Given the description of an element on the screen output the (x, y) to click on. 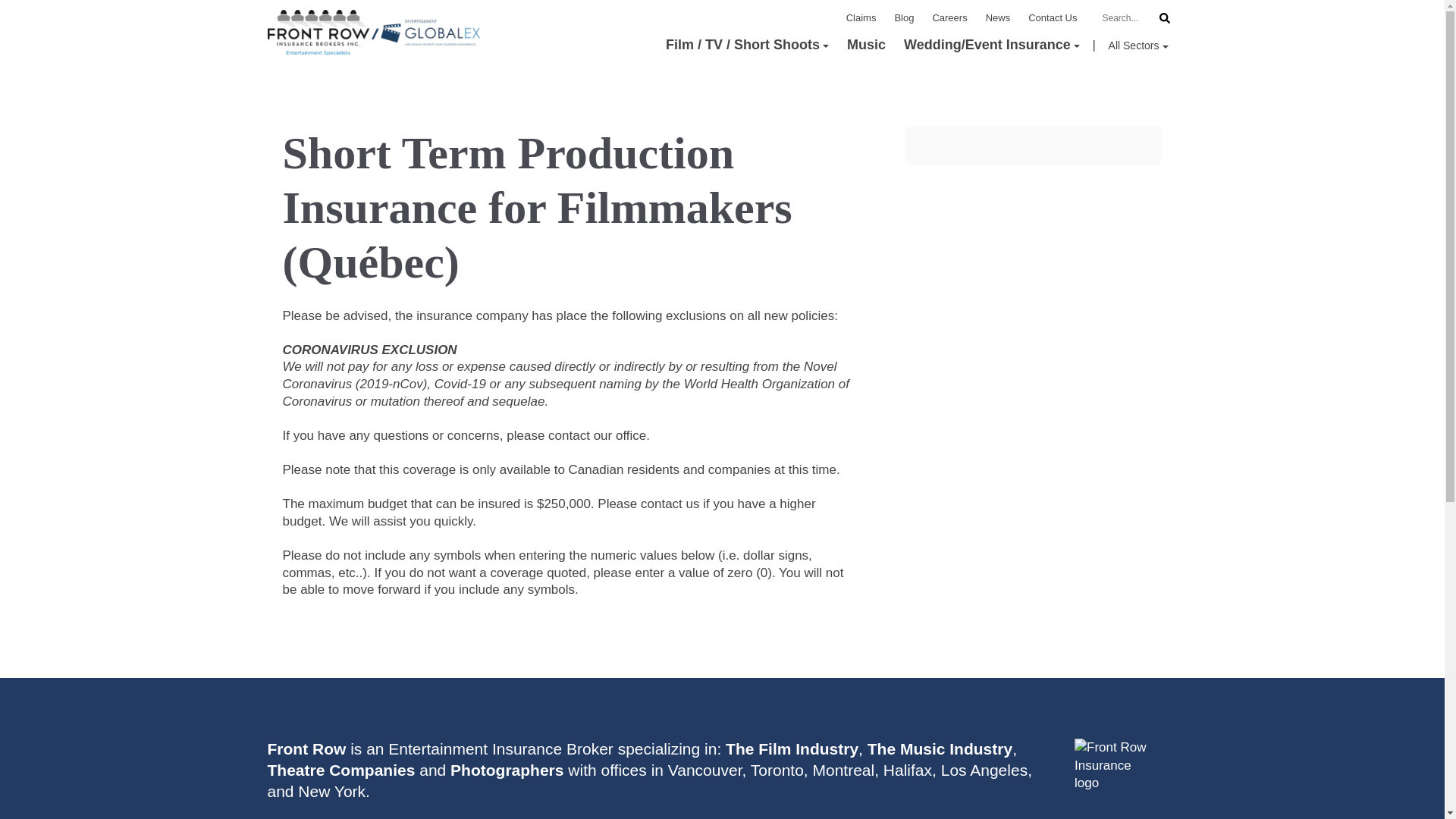
Music (866, 44)
All Sectors (1138, 46)
Claims (861, 17)
News (998, 17)
Careers (949, 17)
Blog (904, 17)
Contact Us (1052, 17)
